Given the description of an element on the screen output the (x, y) to click on. 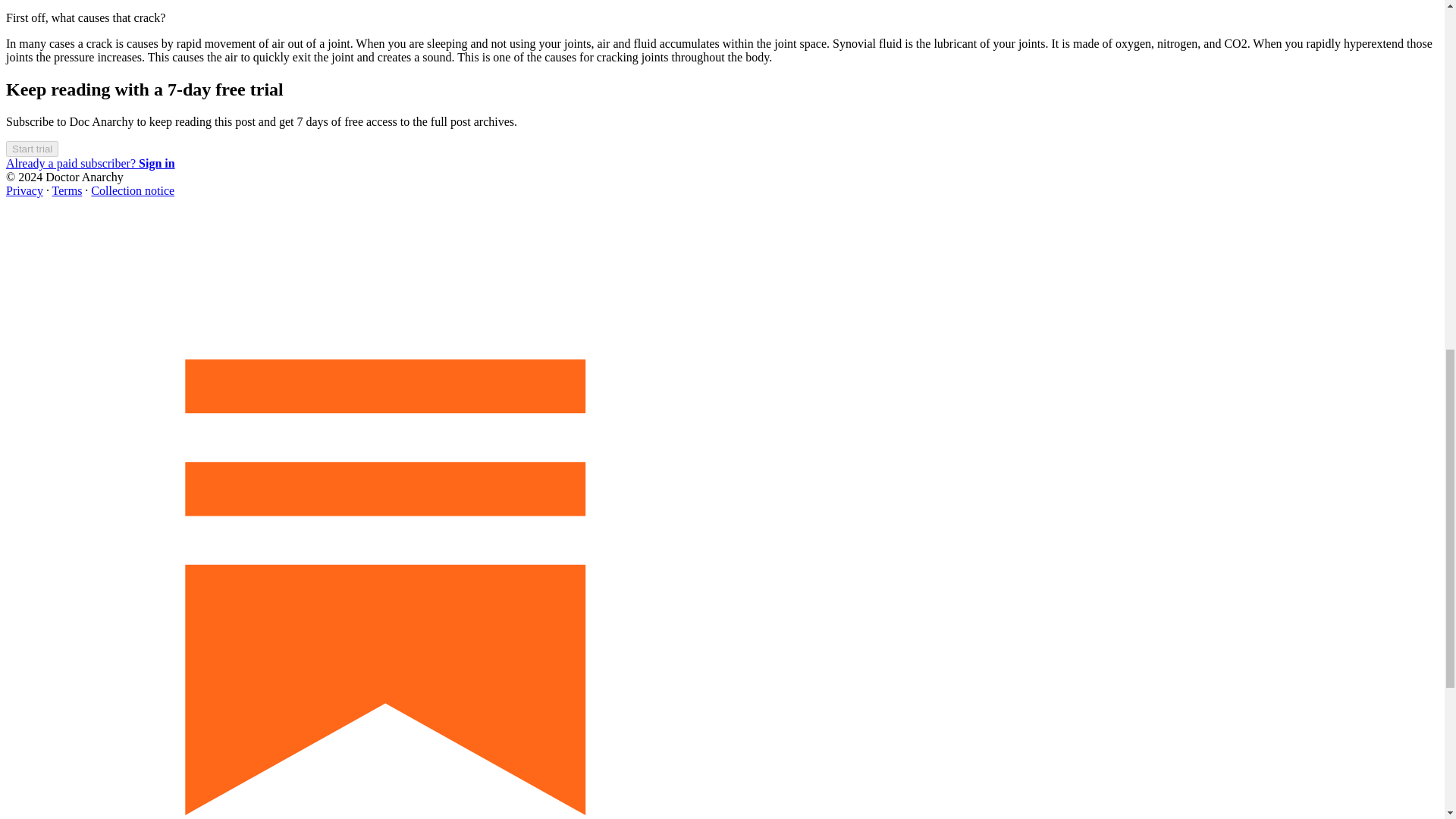
Collection notice (132, 190)
Privacy (24, 190)
Start trial (31, 147)
Terms (67, 190)
Start trial (31, 148)
Already a paid subscriber? Sign in (89, 163)
